Given the description of an element on the screen output the (x, y) to click on. 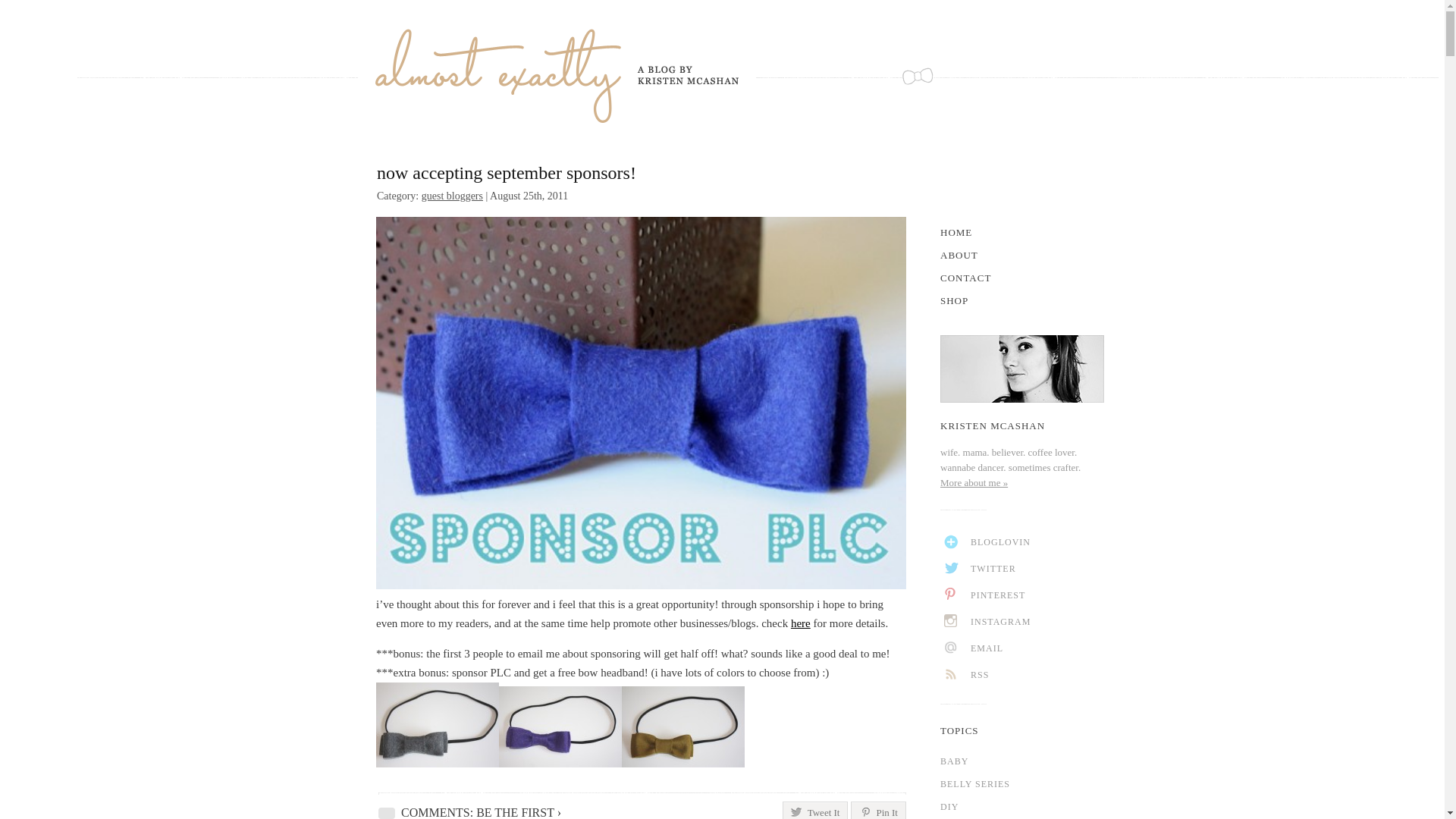
bow headband (682, 726)
Pin It (877, 810)
here (800, 623)
Tweet It (815, 810)
bow headband (437, 724)
CONTACT (1021, 277)
SHOP (1021, 300)
HOME (1021, 232)
now accepting september sponsors! (506, 172)
Kristen McAshan (556, 75)
